Given the description of an element on the screen output the (x, y) to click on. 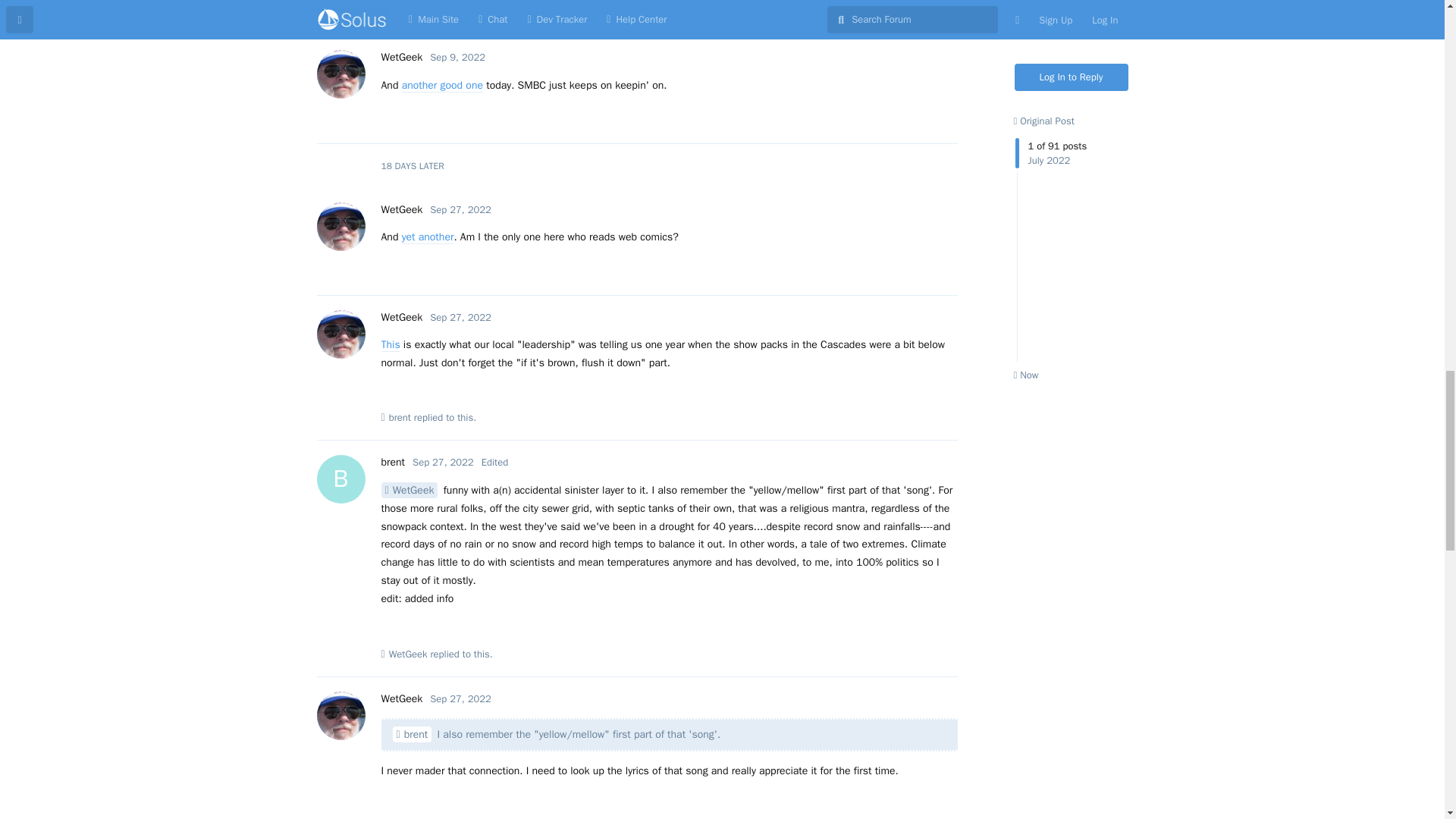
Tuesday, September 27, 2022 4:42 AM (460, 698)
Friday, September 9, 2022 2:02 AM (456, 56)
Tuesday, September 27, 2022 1:20 AM (460, 209)
Tuesday, September 27, 2022 4:32 AM (443, 461)
Tuesday, September 27, 2022 3:26 AM (460, 317)
